Given the description of an element on the screen output the (x, y) to click on. 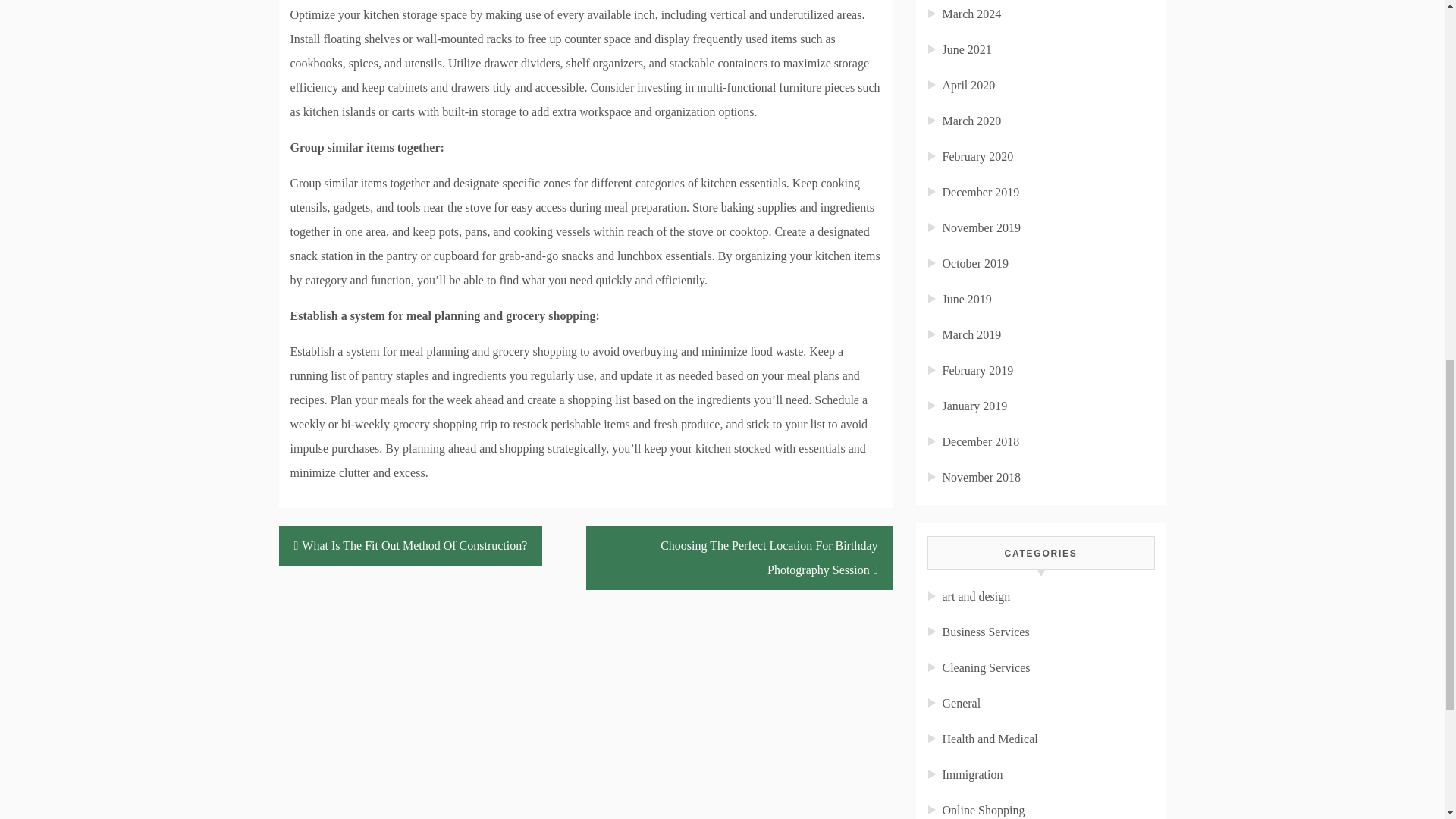
December 2019 (980, 192)
April 2020 (968, 84)
February 2020 (977, 155)
March 2020 (971, 120)
November 2019 (981, 227)
What Is The Fit Out Method Of Construction? (411, 545)
February 2019 (977, 369)
June 2021 (966, 49)
June 2019 (966, 298)
October 2019 (975, 263)
March 2019 (971, 334)
March 2024 (971, 13)
